Given the description of an element on the screen output the (x, y) to click on. 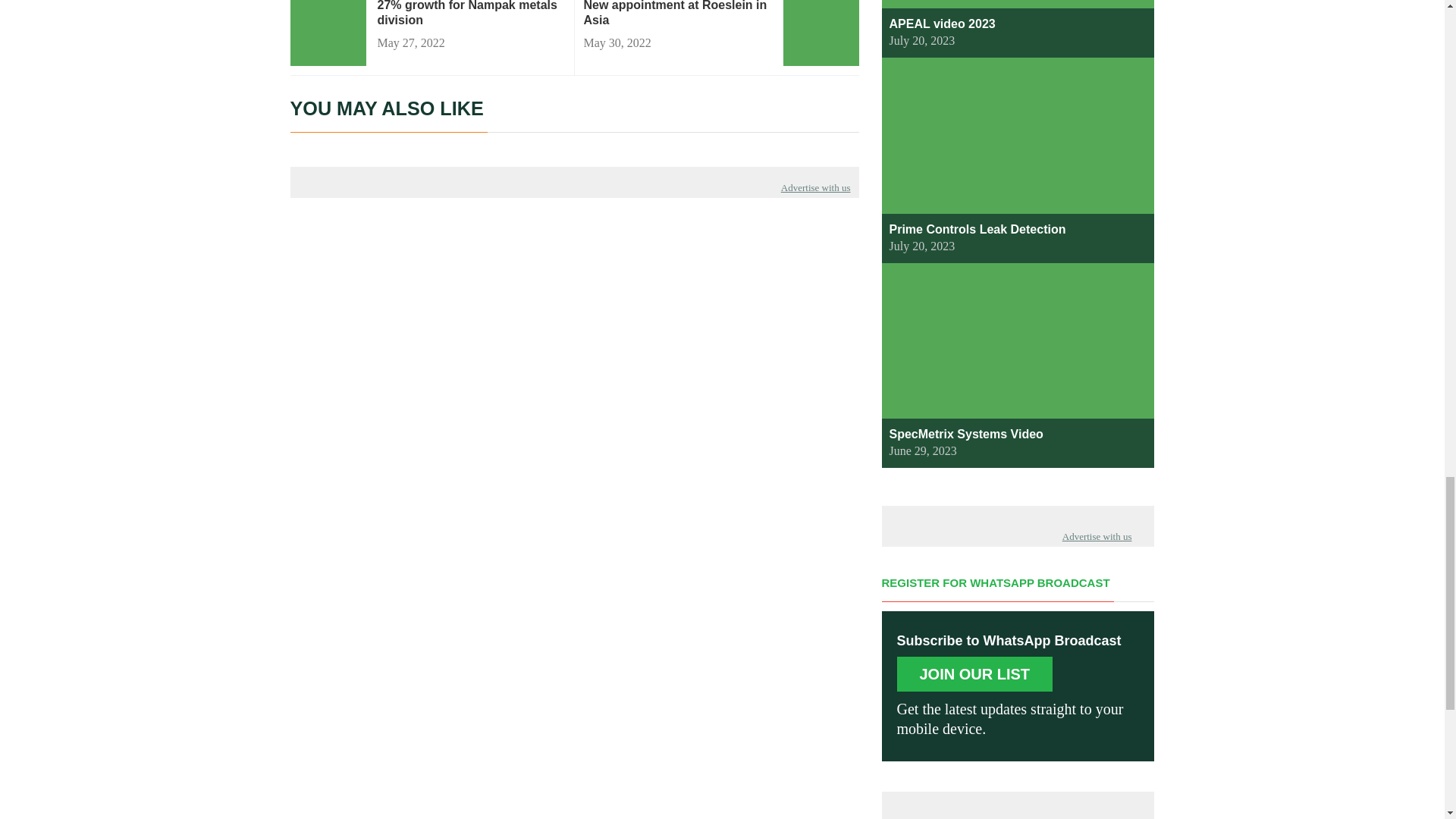
prev post (677, 13)
prev post (470, 13)
New appointment at Roeslein in Asia (677, 13)
Advertise with us (815, 187)
